Given the description of an element on the screen output the (x, y) to click on. 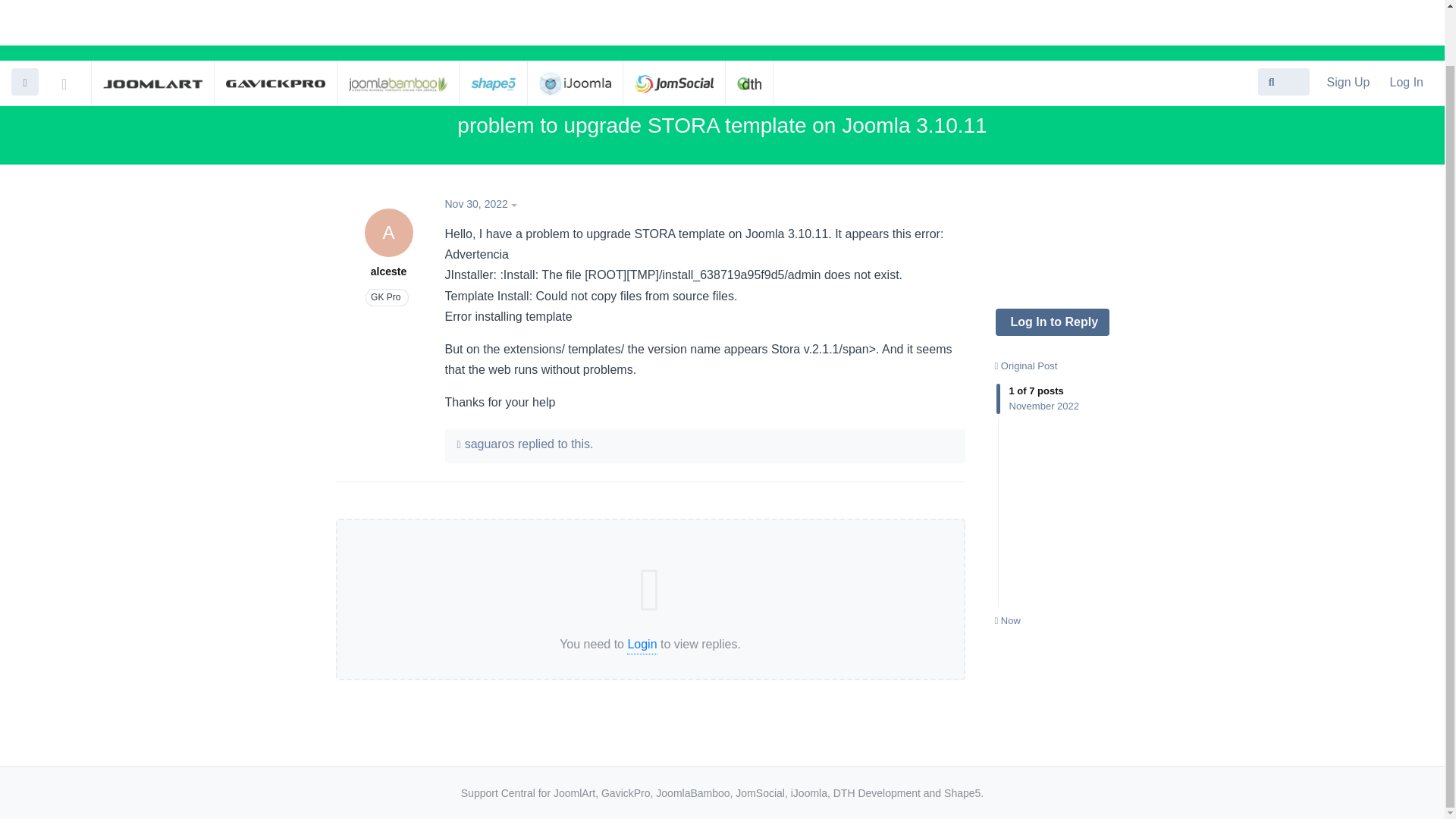
GK Joomla Templates (688, 86)
Sign Up (1348, 21)
DTH Development Homepage (749, 22)
JoomlArt Homepage (152, 22)
GK Stora (781, 86)
Gavick Homepage (275, 22)
Shape5 Homepage (493, 22)
Nov 30, 2022 (483, 203)
DTH (749, 22)
JomSocial Homepage (674, 22)
Wednesday, November 30, 2022 5:07 PM (475, 203)
JoomlaBamboo Homepage (398, 22)
JOOMLART (152, 22)
Log In (1406, 21)
Log In to Reply (1051, 261)
